Given the description of an element on the screen output the (x, y) to click on. 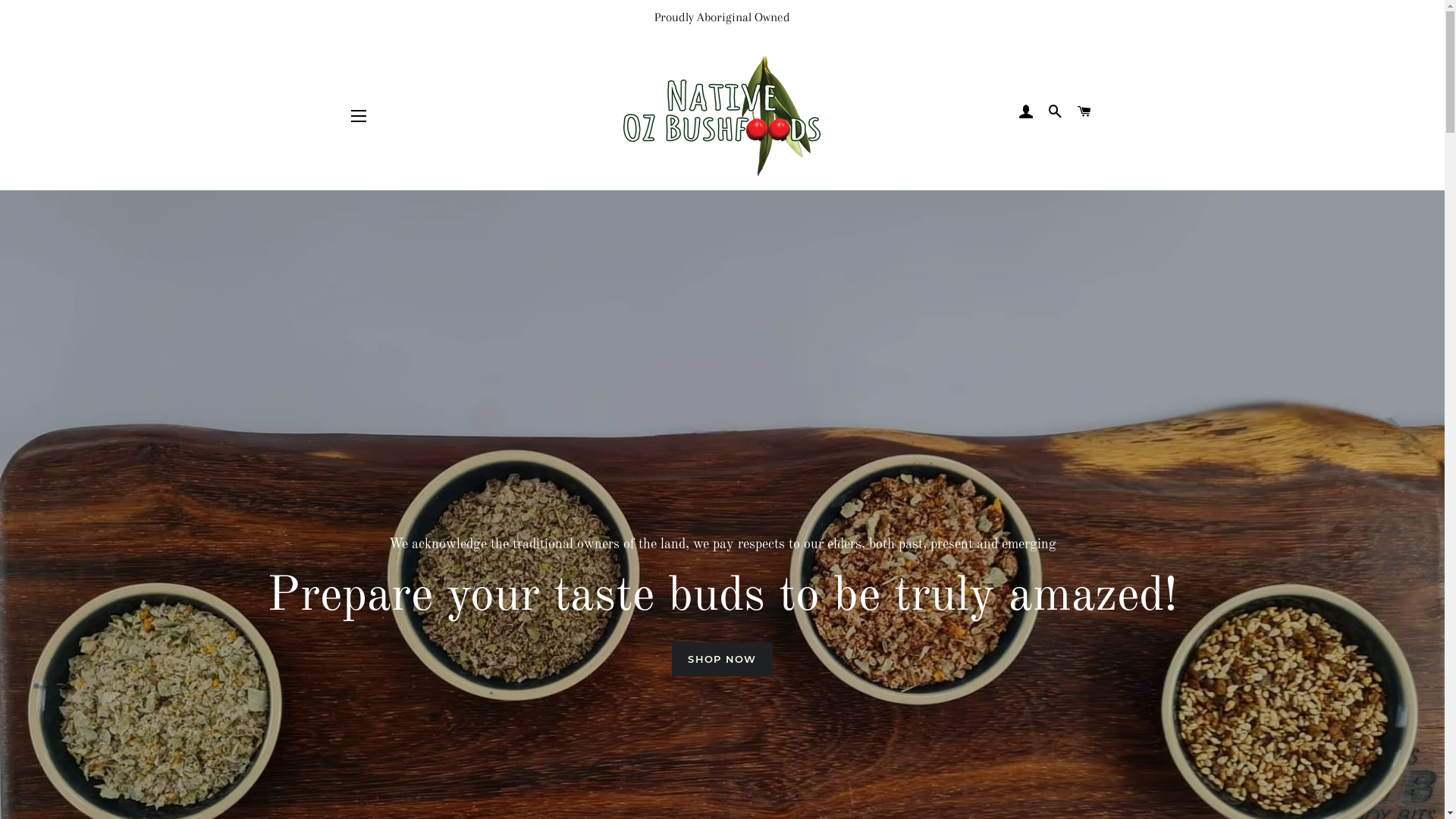
CART Element type: text (1084, 112)
SITE NAVIGATION Element type: text (358, 115)
LOG IN Element type: text (1025, 112)
SEARCH Element type: text (1055, 112)
SHOP NOW Element type: text (721, 658)
